Given the description of an element on the screen output the (x, y) to click on. 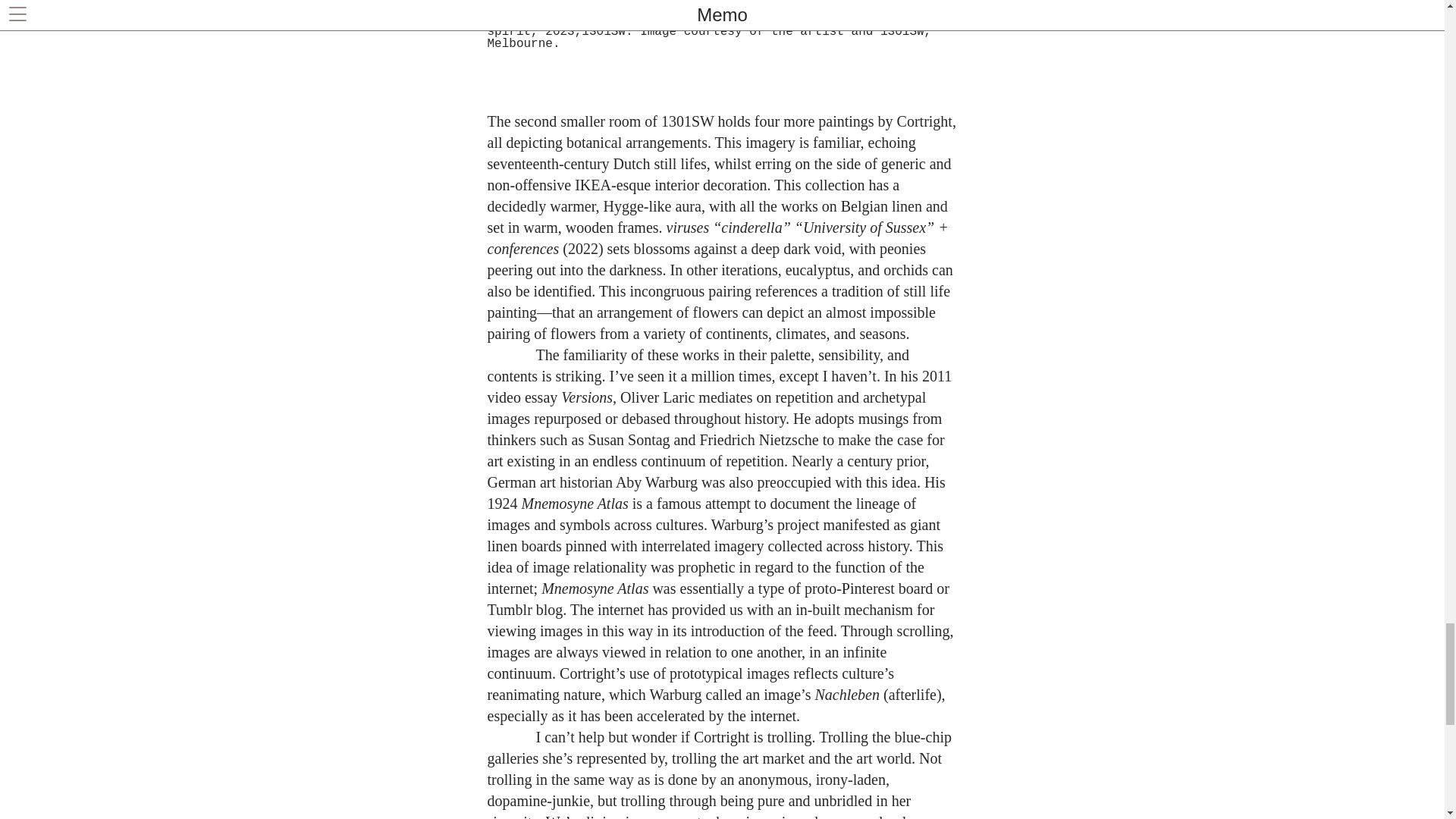
Versions (586, 397)
